Given the description of an element on the screen output the (x, y) to click on. 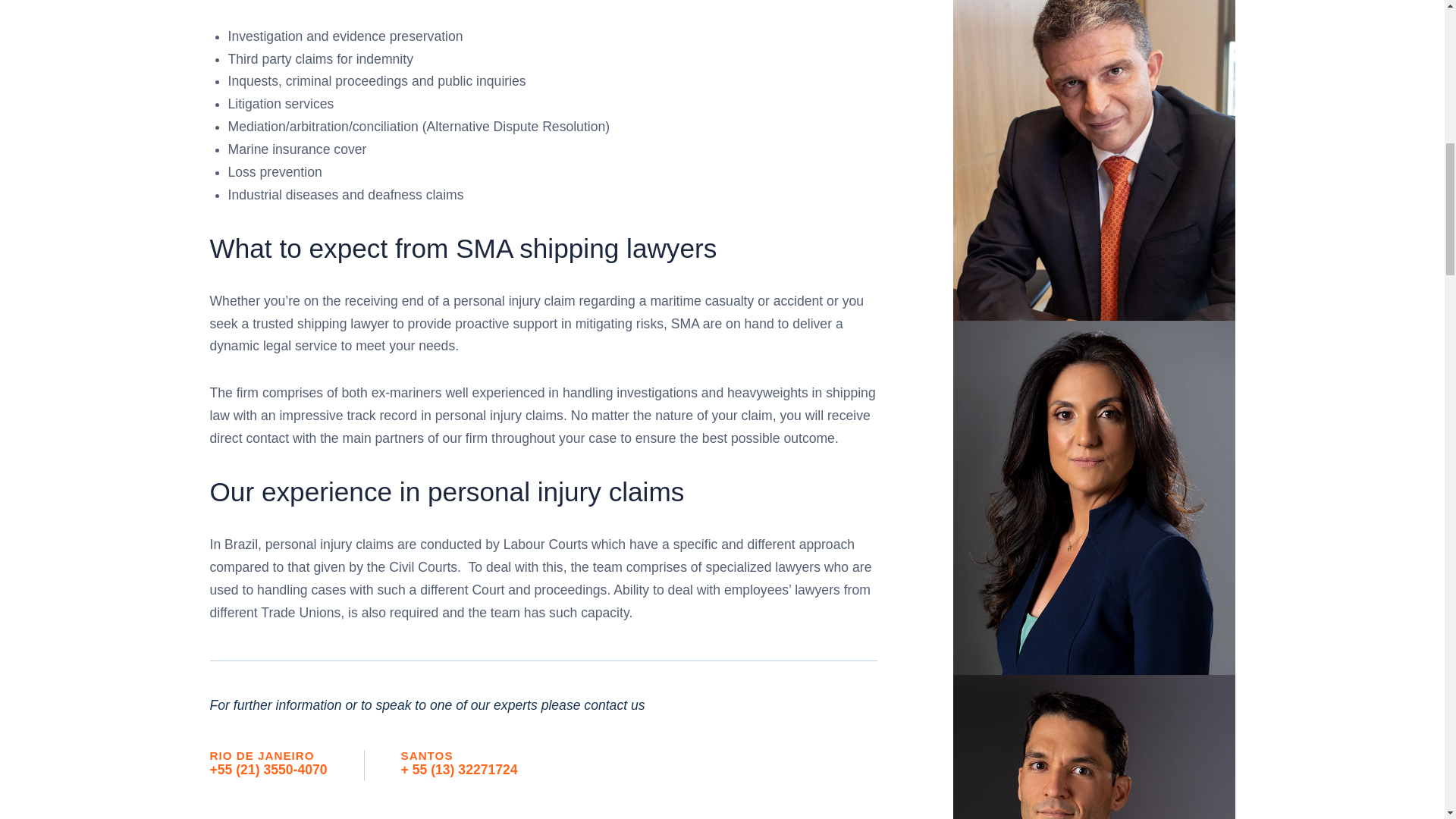
Marcos Martins (1093, 746)
